Given the description of an element on the screen output the (x, y) to click on. 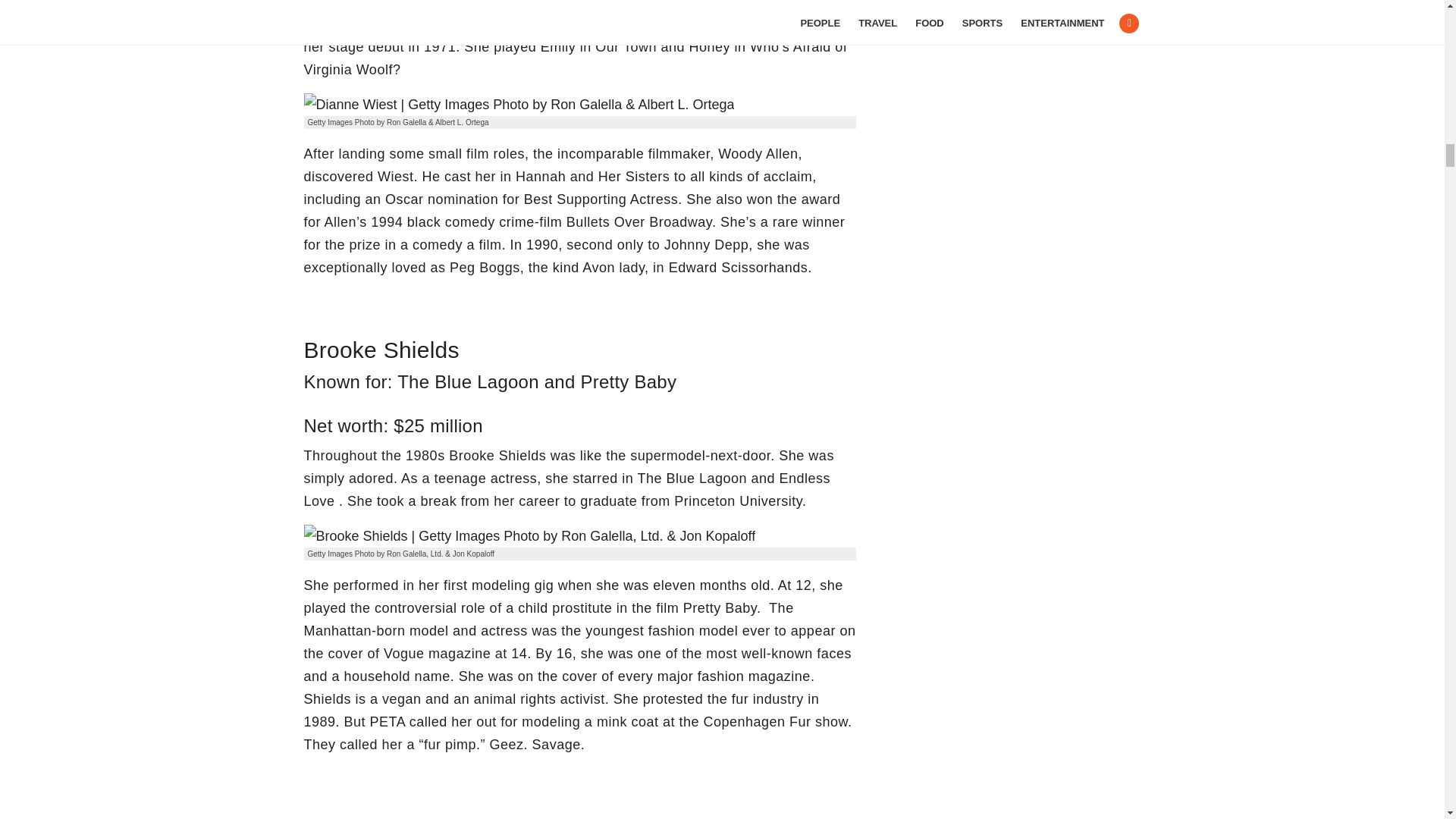
Brooke Shields (528, 535)
Dianne Wiest (517, 104)
